Given the description of an element on the screen output the (x, y) to click on. 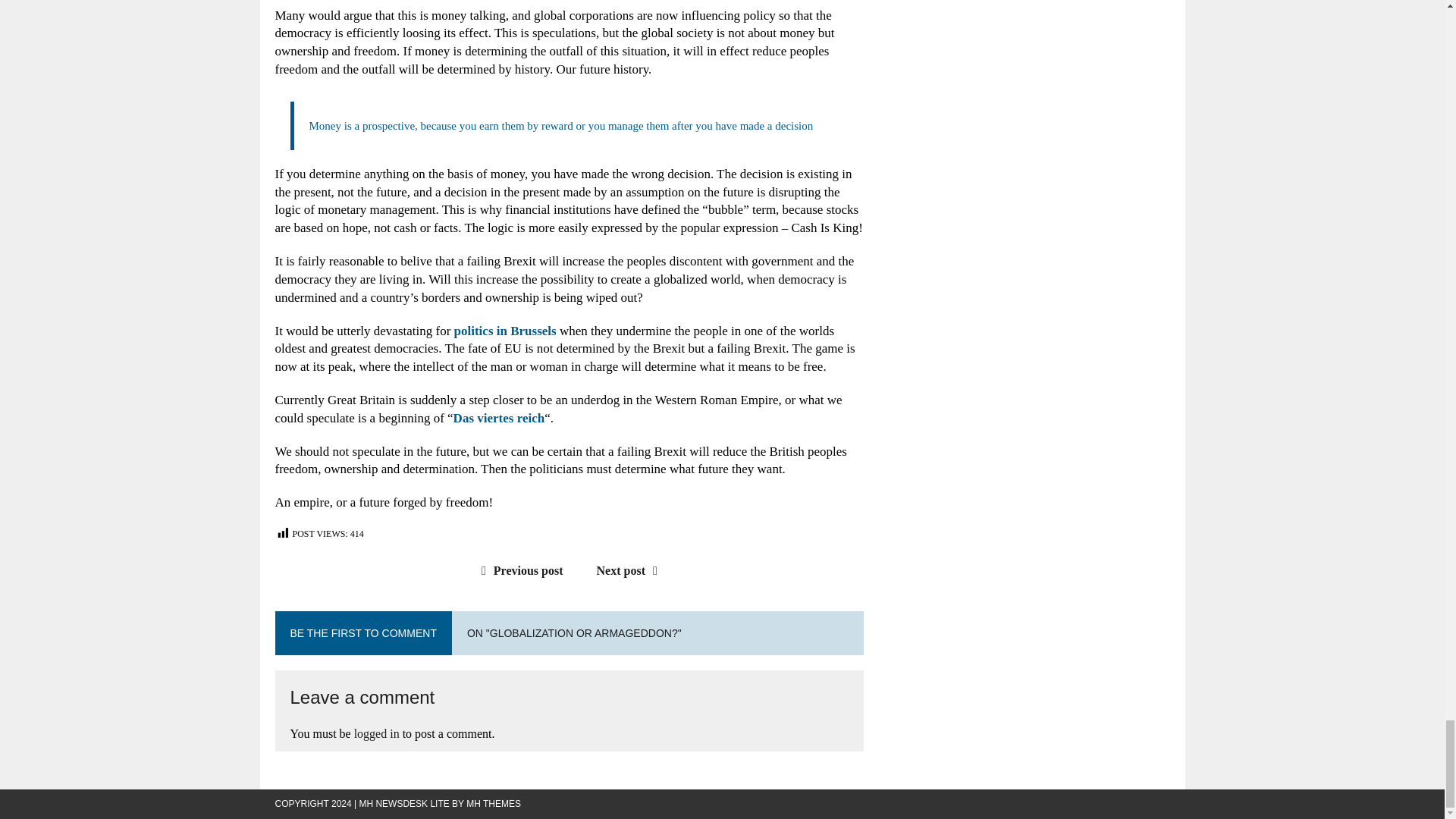
politics in Brussels (505, 330)
Das viertes reich (498, 418)
logged in (375, 733)
Next post (630, 570)
Previous post (518, 570)
